Given the description of an element on the screen output the (x, y) to click on. 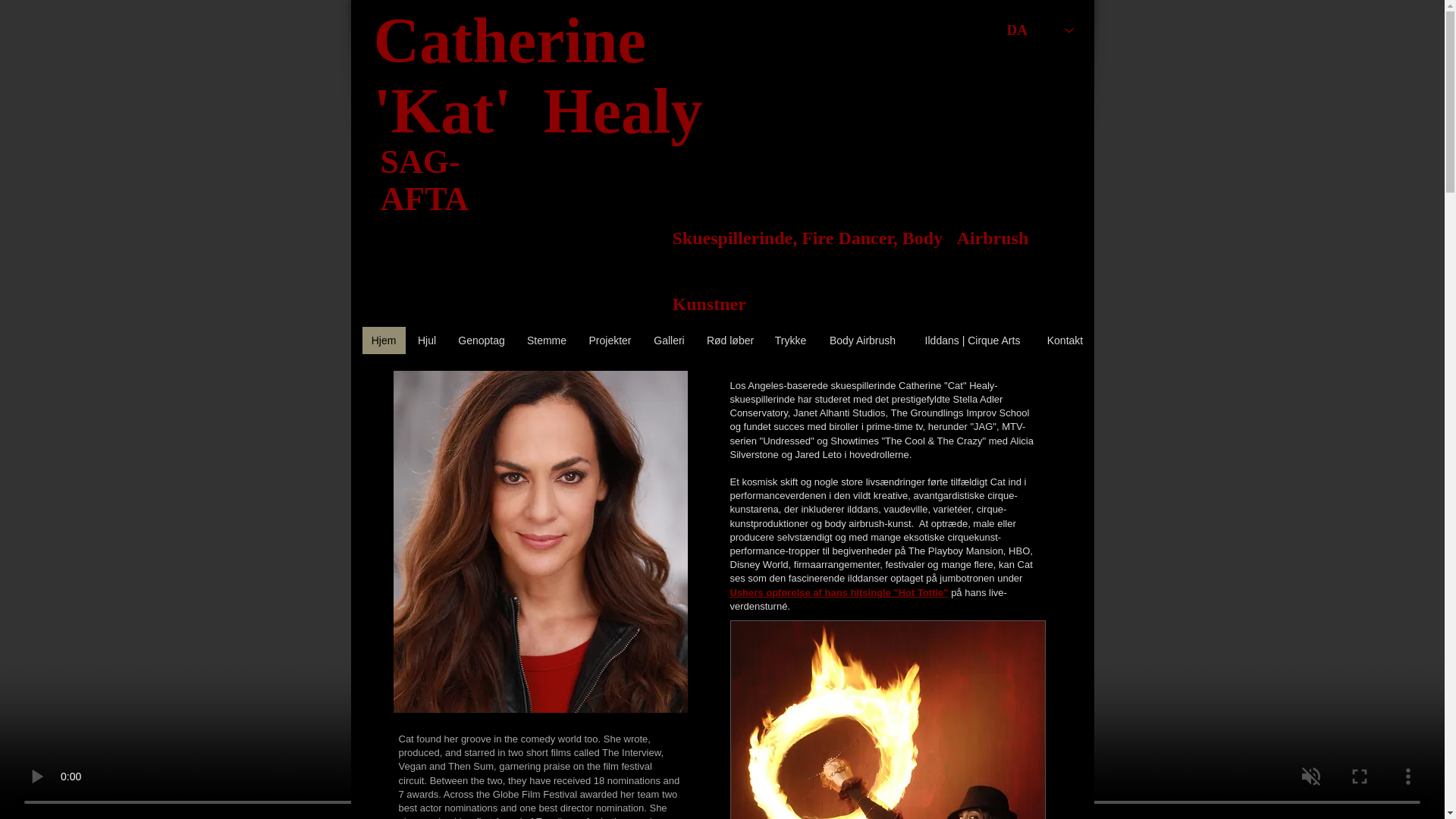
Hjem (384, 339)
Kontakt (1064, 339)
Stemme (545, 339)
Hjul (426, 339)
Body Airbrush (861, 339)
Genoptag (481, 339)
Projekter (610, 339)
Trykke (789, 339)
Galleri (669, 339)
